Given the description of an element on the screen output the (x, y) to click on. 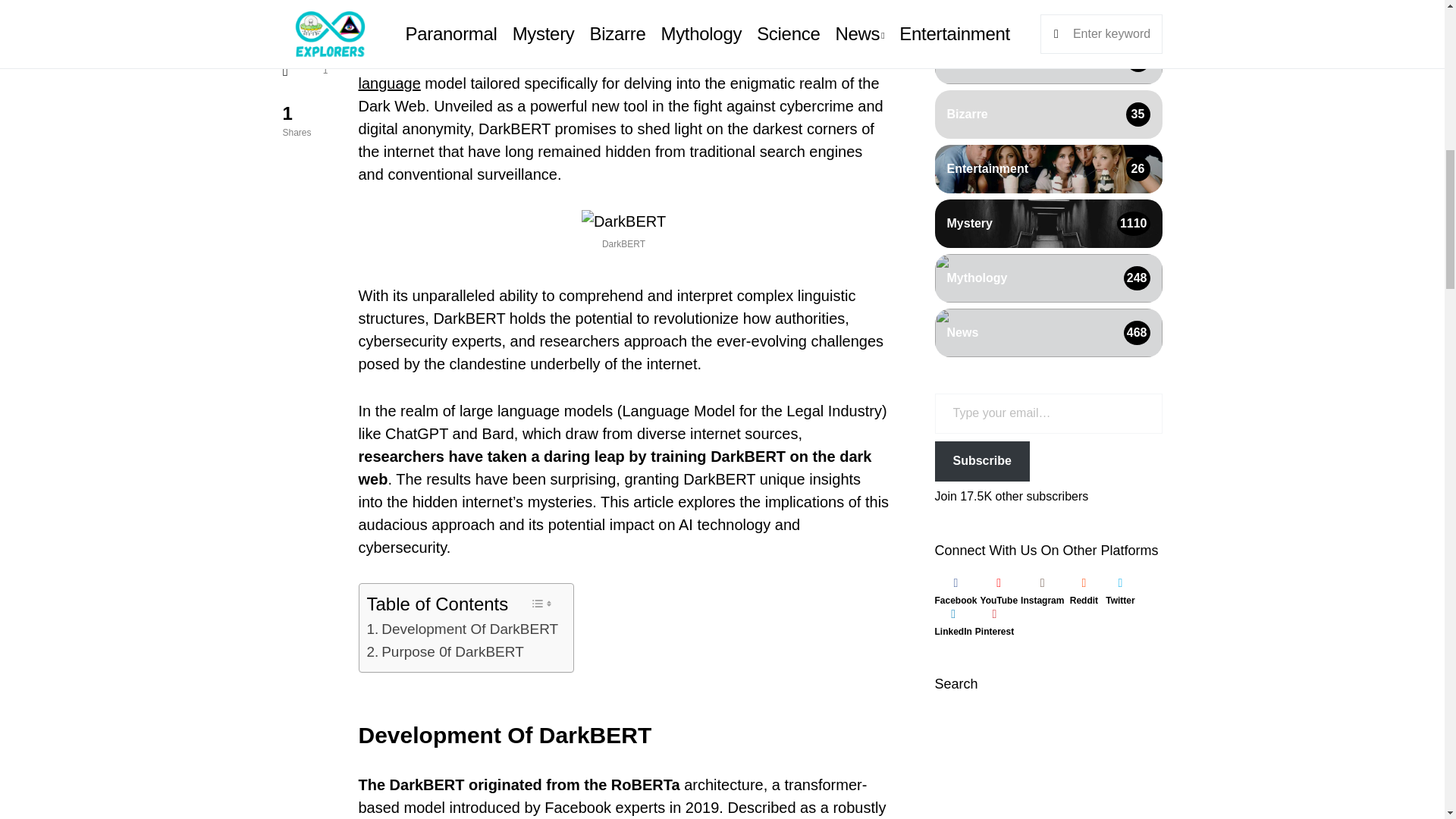
Purpose 0f DarkBERT (445, 651)
Development Of DarkBERT (462, 629)
Please fill in this field. (1047, 164)
